Given the description of an element on the screen output the (x, y) to click on. 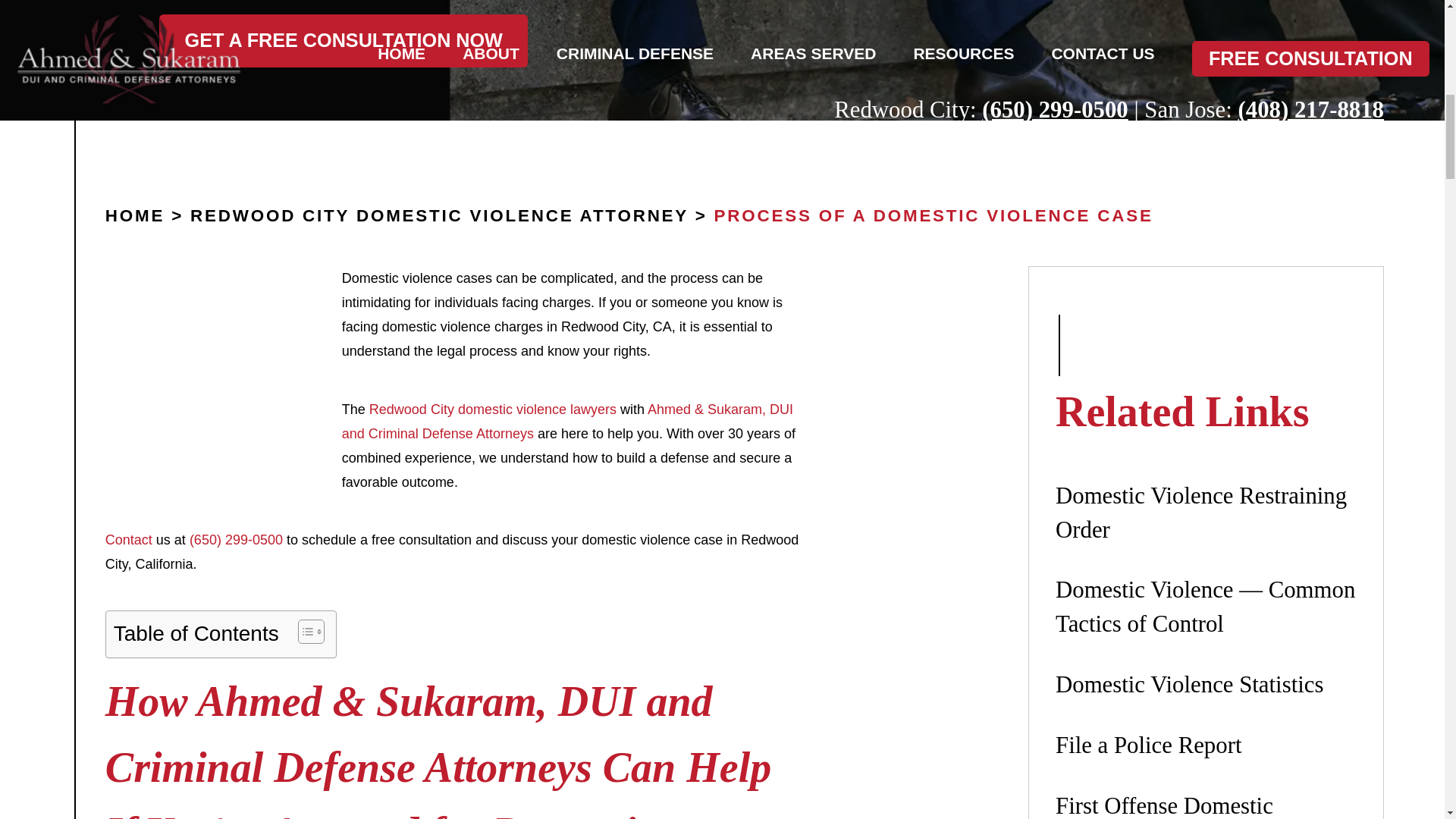
Redwood City domestic violence lawyers (492, 409)
GET A FREE CONSULTATION NOW (342, 40)
GET A FREE CONSULTATION NOW (342, 40)
Contact (128, 539)
HOME (134, 215)
REDWOOD CITY DOMESTIC VIOLENCE ATTORNEY (439, 215)
